Given the description of an element on the screen output the (x, y) to click on. 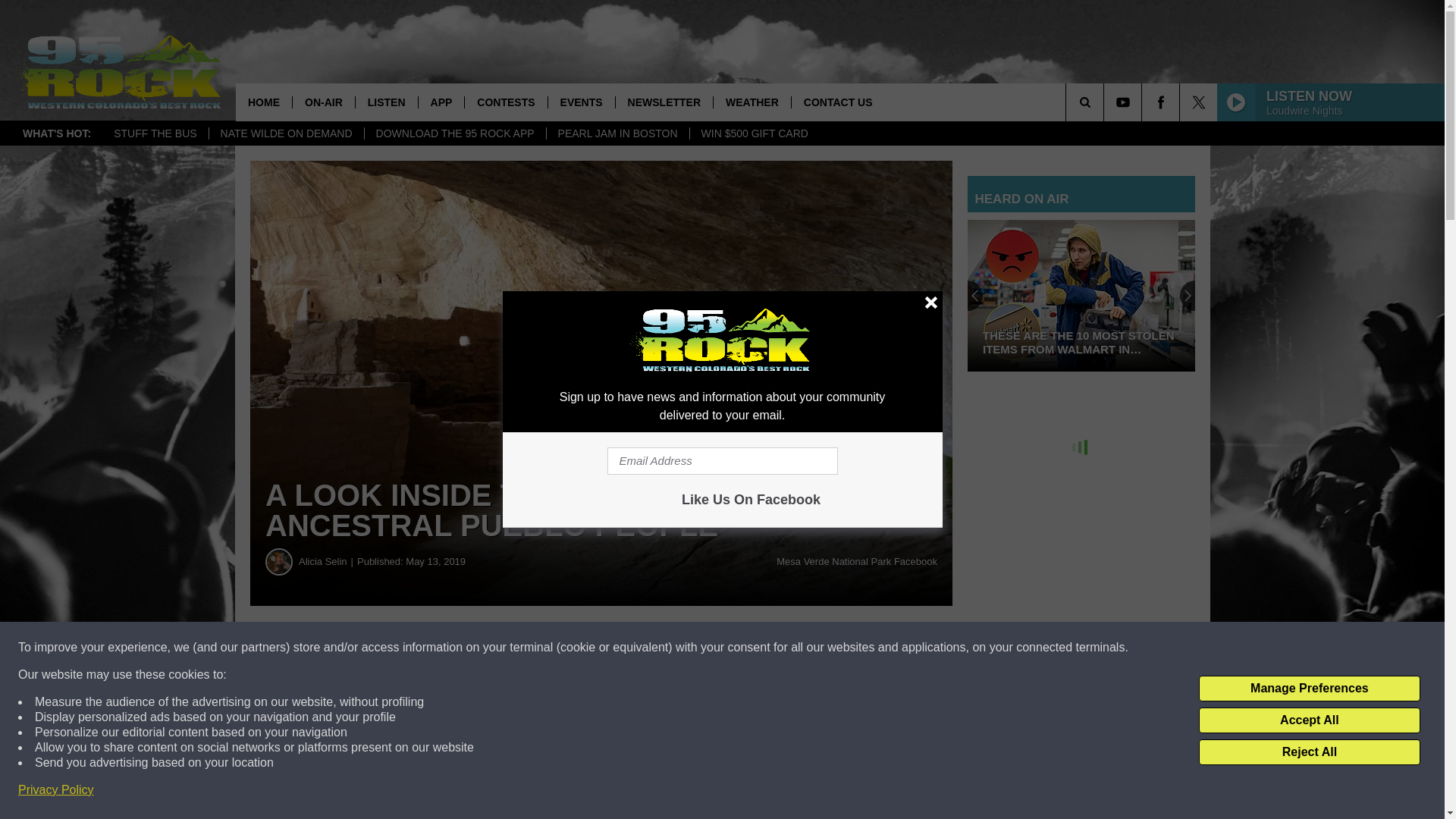
WHAT'S HOT: (56, 133)
LISTEN (386, 102)
SEARCH (1106, 102)
ON-AIR (323, 102)
Accept All (1309, 720)
STUFF THE BUS (154, 133)
Email Address (722, 461)
PEARL JAM IN BOSTON (617, 133)
Privacy Policy (55, 789)
HOME (263, 102)
NATE WILDE ON DEMAND (286, 133)
Reject All (1309, 751)
SEARCH (1106, 102)
CONTESTS (505, 102)
Manage Preferences (1309, 688)
